Given the description of an element on the screen output the (x, y) to click on. 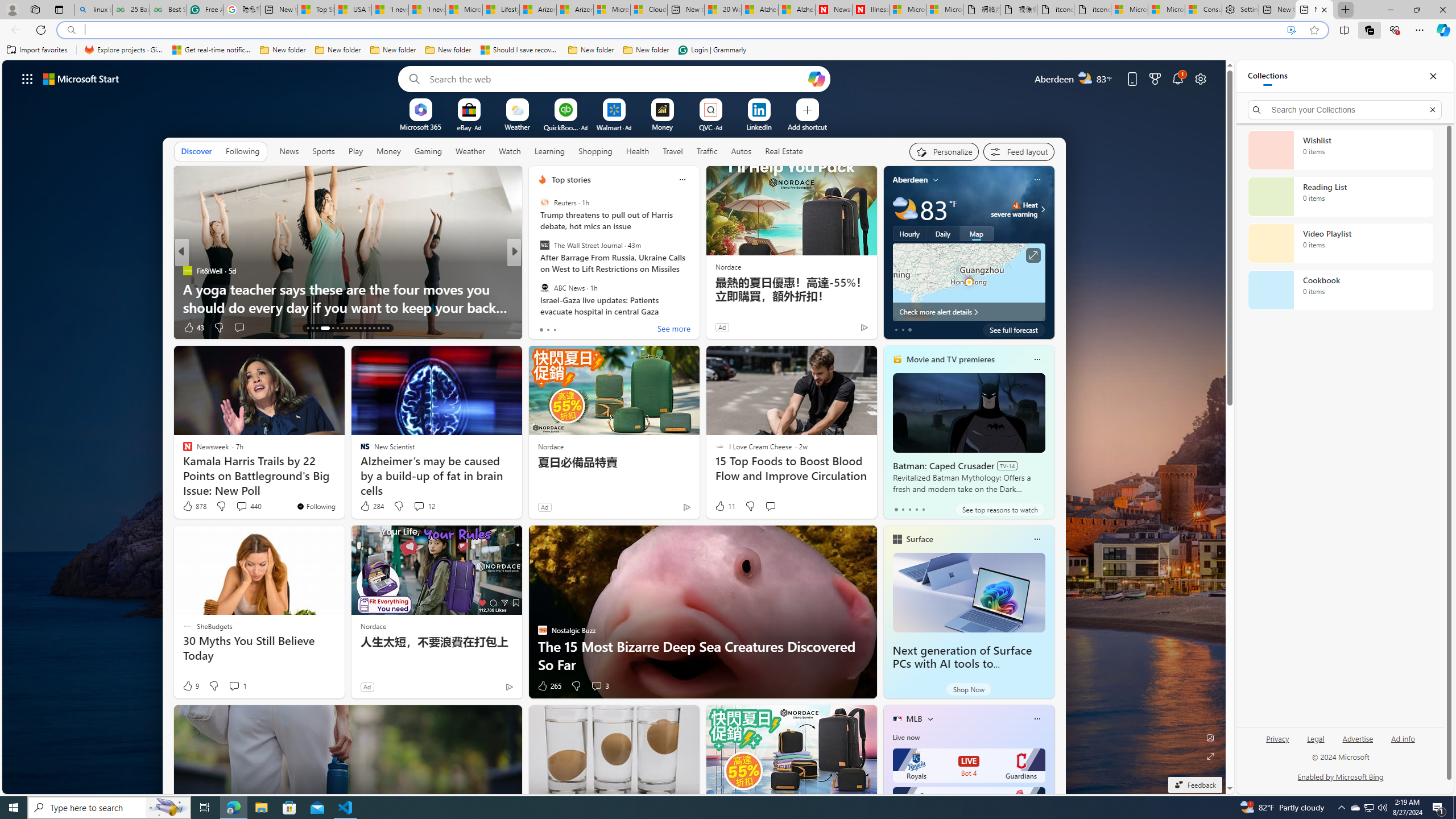
View comments 2 Comment (592, 327)
View comments 2k Comment (594, 327)
Class: weather-arrow-glyph (1043, 208)
Hourly (909, 233)
The Hearty Soul (537, 288)
Reuters (544, 202)
Weather (470, 151)
Kobocents (537, 270)
Best SSL Certificates Provider in India - GeeksforGeeks (168, 9)
